Given the description of an element on the screen output the (x, y) to click on. 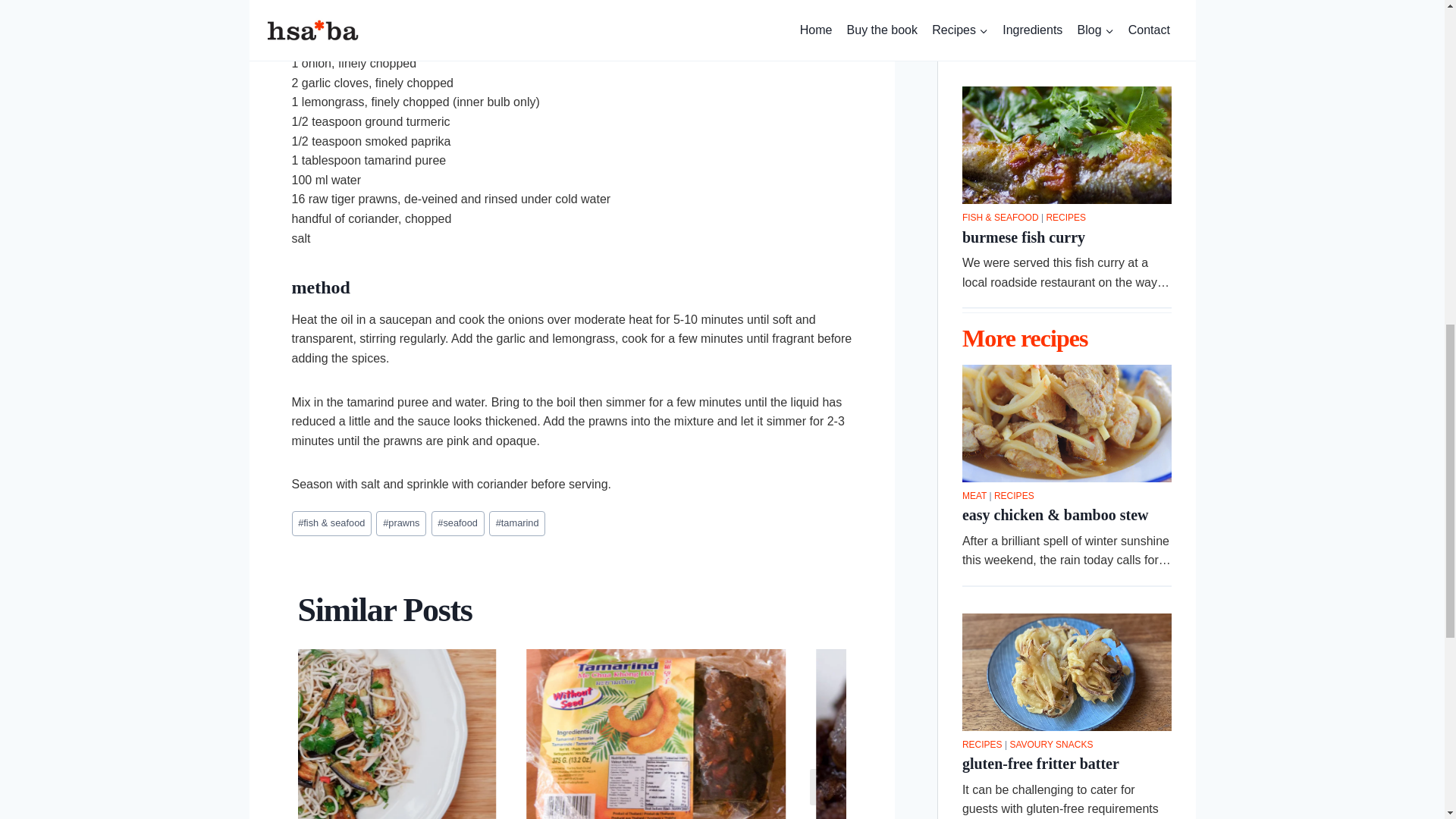
prawns (400, 523)
seafood (457, 523)
tamarind (516, 523)
